Given the description of an element on the screen output the (x, y) to click on. 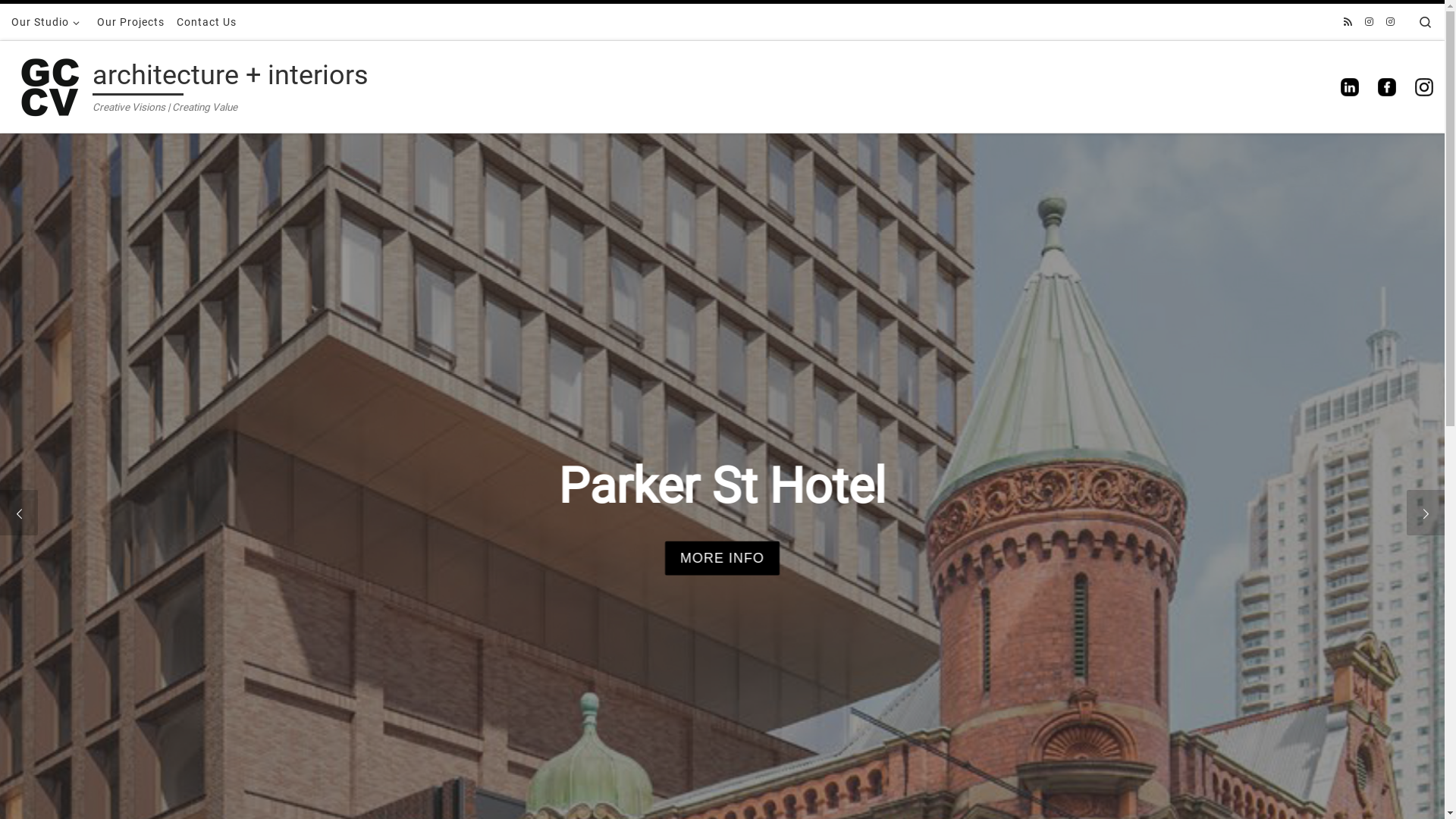
Our Projects Element type: text (130, 21)
gccv_interiors Element type: hover (1369, 22)
Our Studio Element type: text (47, 21)
Contact Us Element type: text (206, 21)
MORE INFO Element type: text (722, 558)
Skip to content Element type: text (59, 20)
Search Element type: text (1424, 21)
Subscribe to my rss feed Element type: hover (1347, 22)
gccv_architecture Element type: hover (1390, 22)
architecture + interiors Element type: text (230, 78)
